Given the description of an element on the screen output the (x, y) to click on. 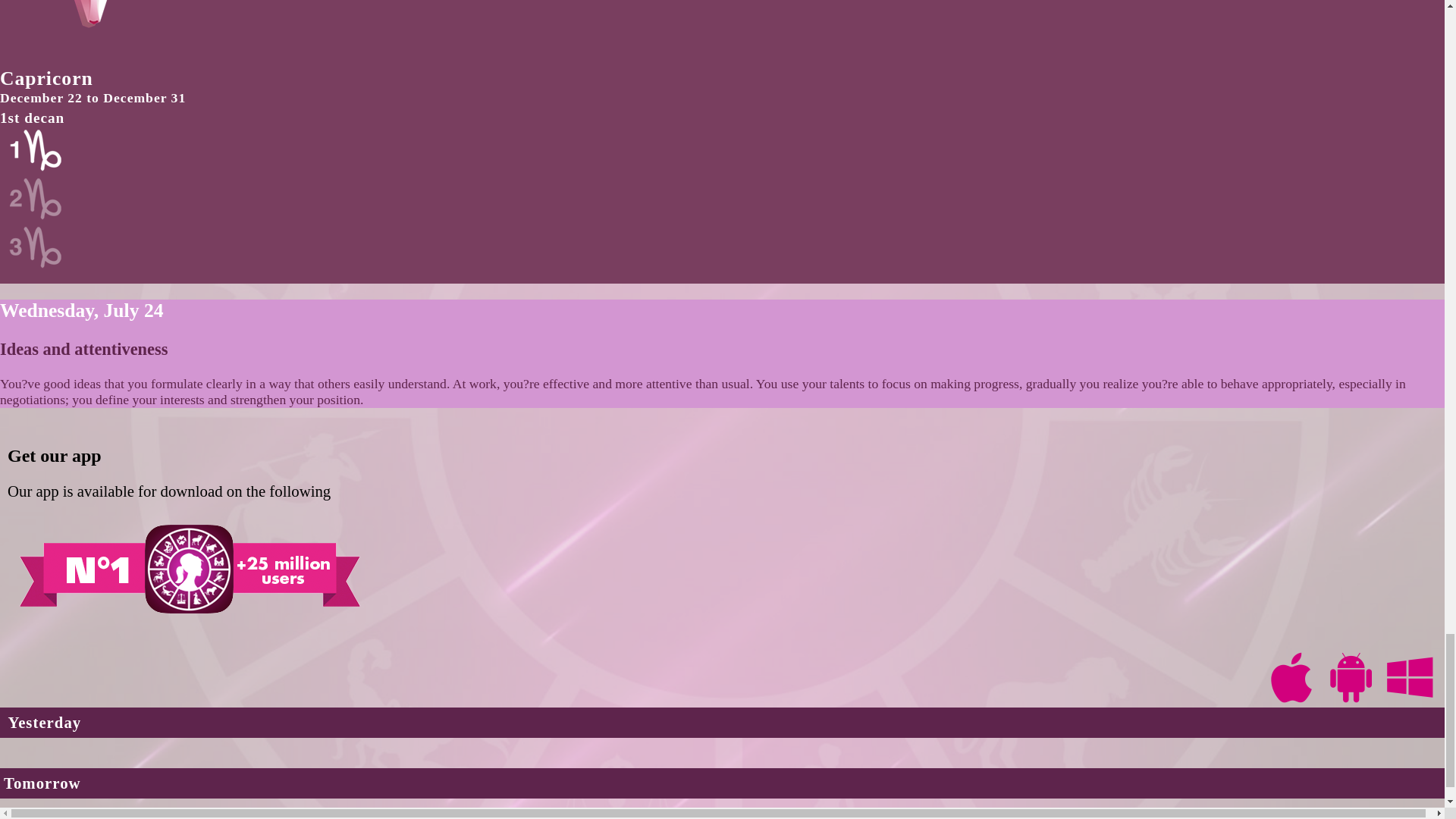
Show decan 3 (39, 264)
Show decan 2 (39, 215)
Show decan 1 (39, 167)
